Given the description of an element on the screen output the (x, y) to click on. 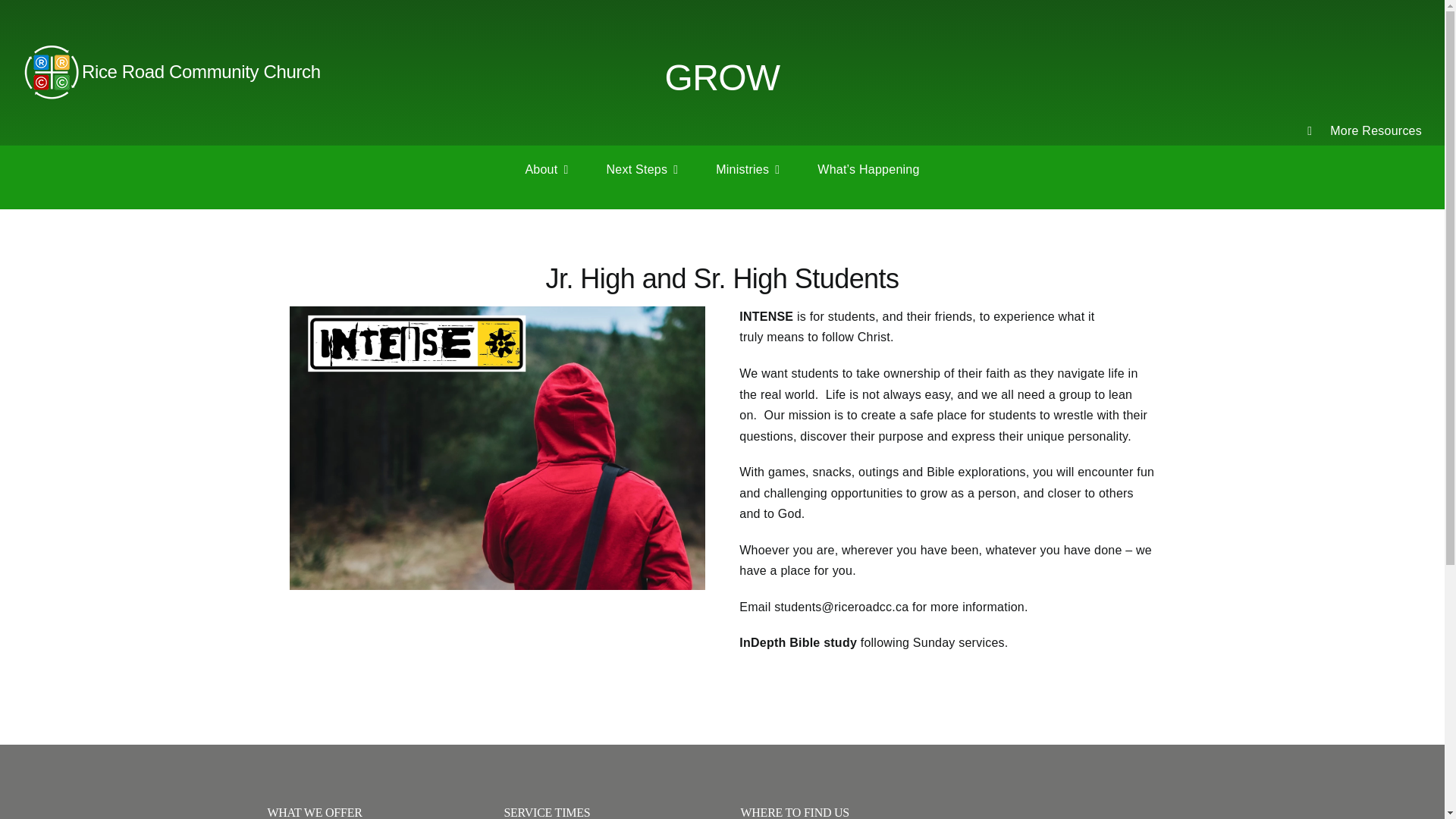
Next Steps (641, 169)
Ministries (747, 169)
Screen-Shot-2021-08-10-at-12.15.36-PM (496, 447)
Jr. High and Sr. High Students (721, 280)
More Resources (1361, 130)
About (545, 169)
